Given the description of an element on the screen output the (x, y) to click on. 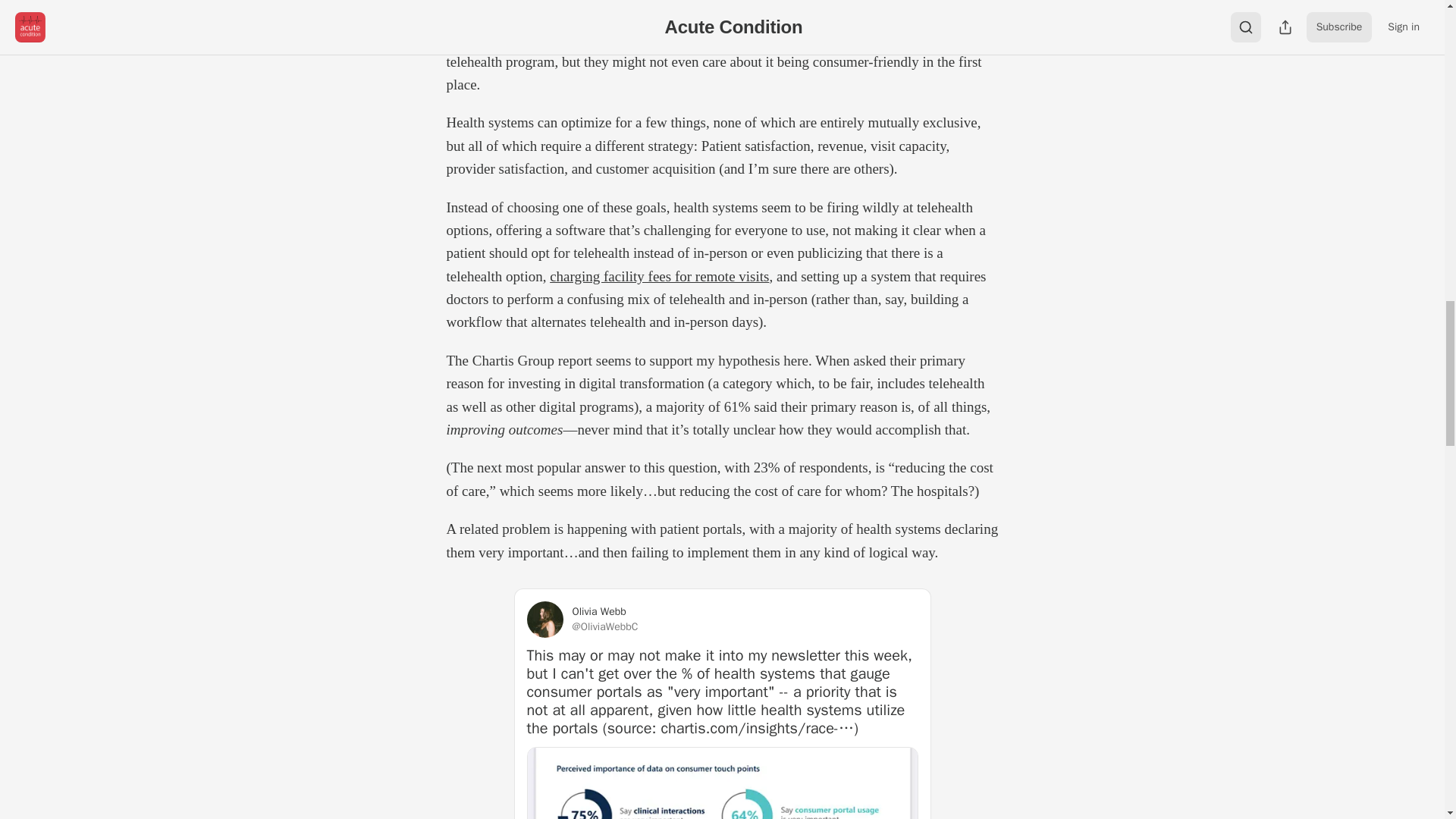
charging facility fees for remote visits (659, 276)
